Given the description of an element on the screen output the (x, y) to click on. 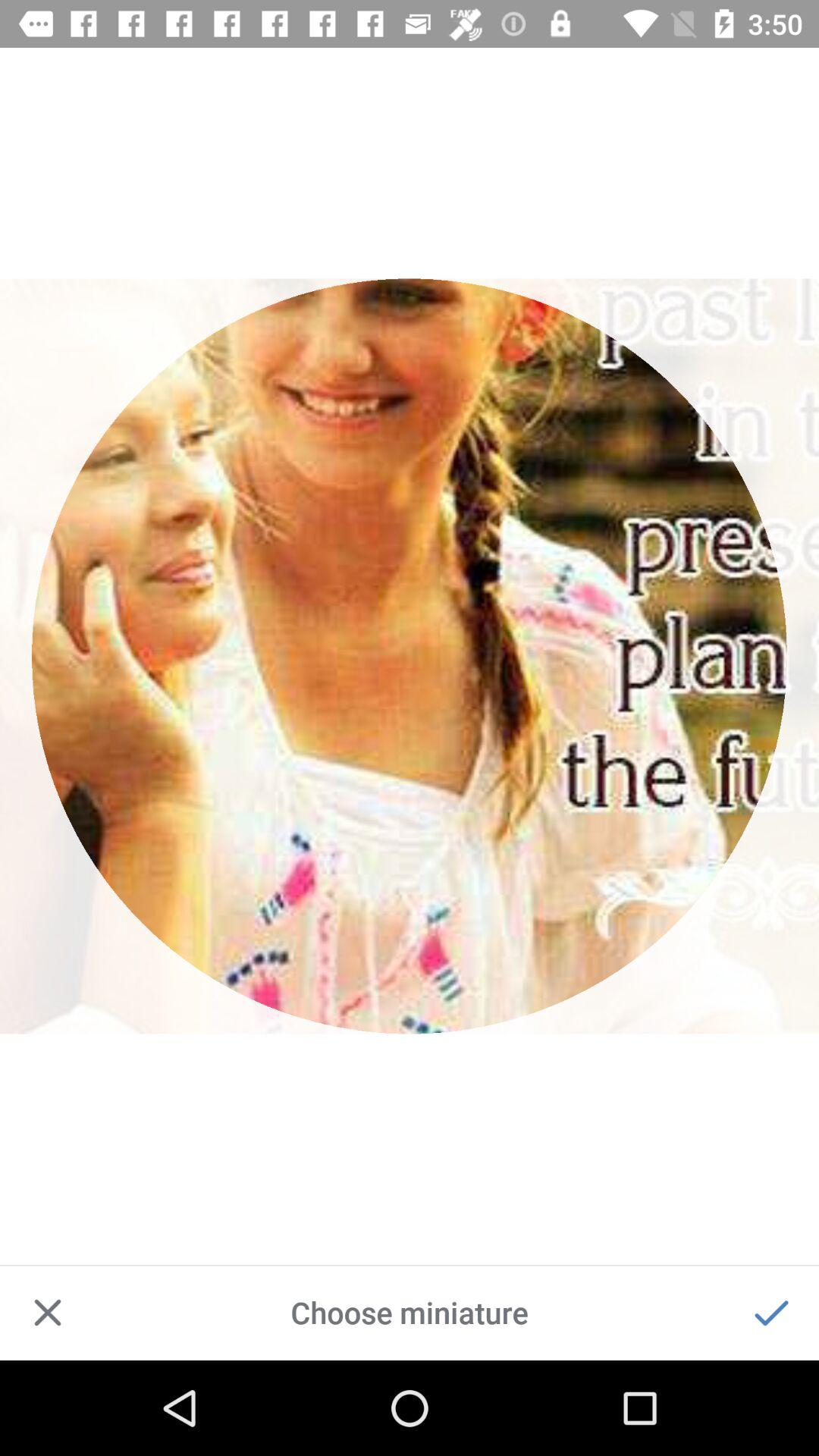
close page (47, 1312)
